Given the description of an element on the screen output the (x, y) to click on. 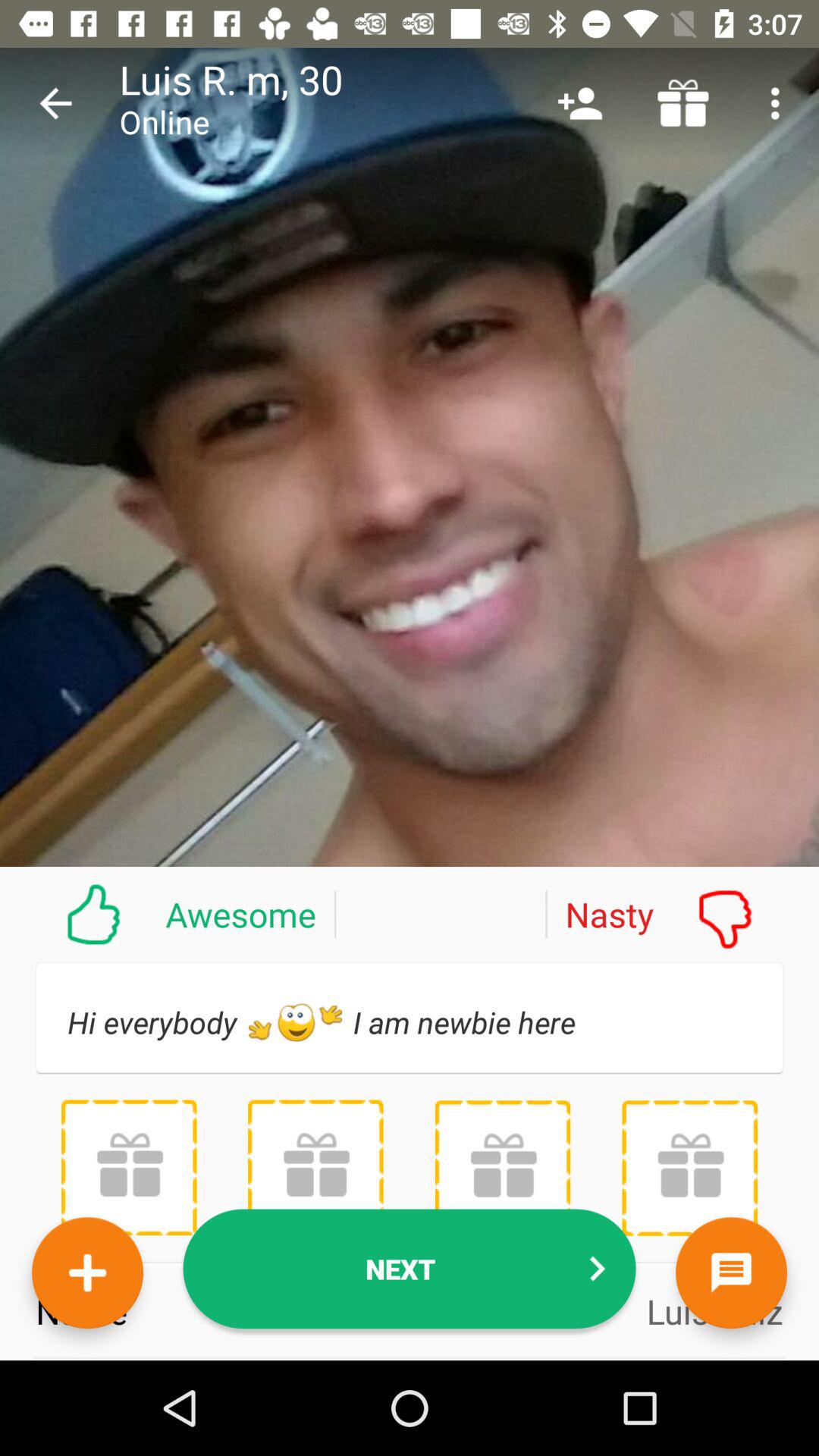
launch the icon next to  m, 30 item (579, 103)
